Given the description of an element on the screen output the (x, y) to click on. 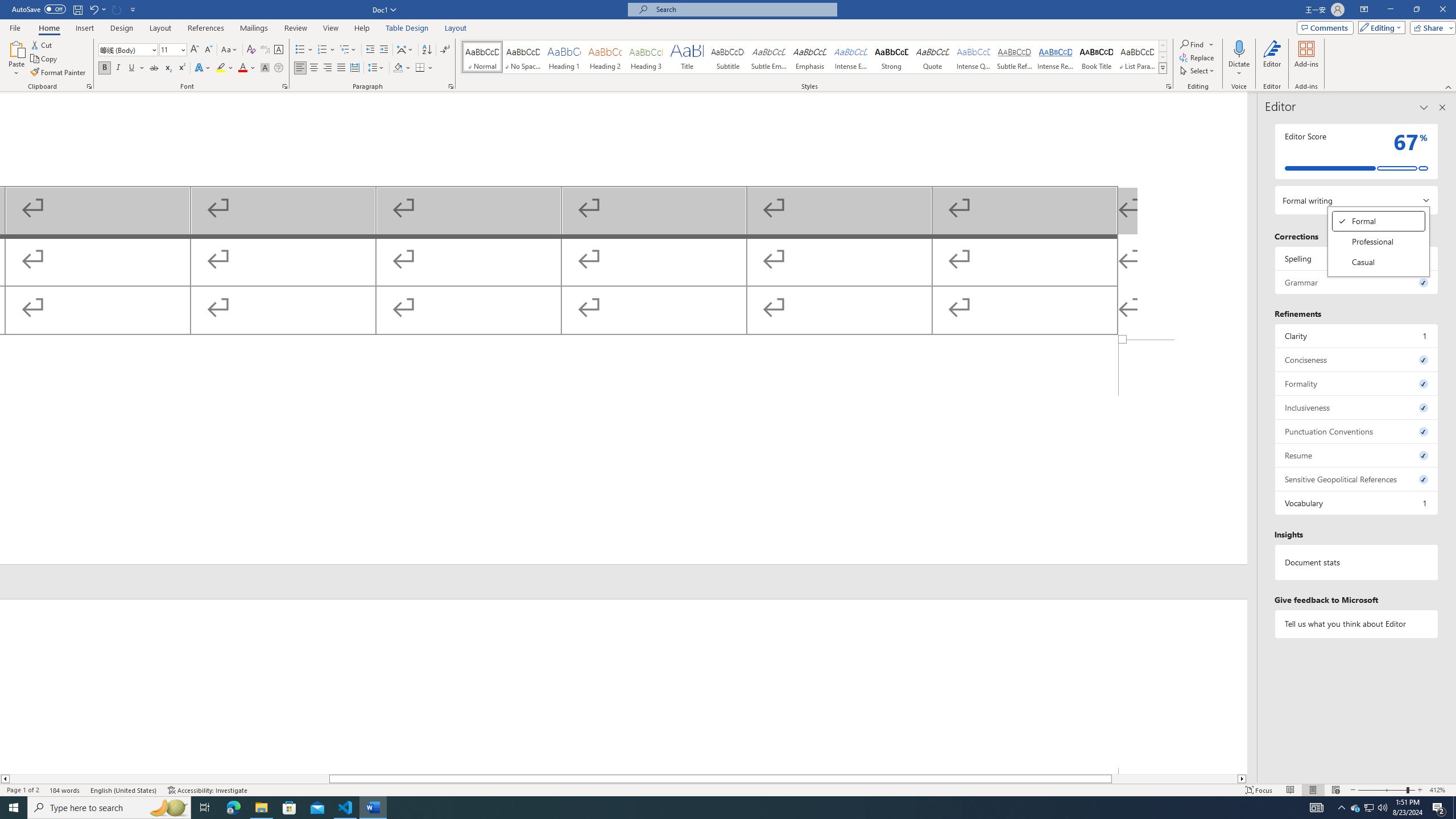
Subtle Reference (1368, 807)
Heading 2 (1014, 56)
Start (605, 56)
Search highlights icon opens search home window (13, 807)
Formality, 0 issues. Press space or enter to review items. (167, 807)
Editor Score 67% (1356, 383)
